Given the description of an element on the screen output the (x, y) to click on. 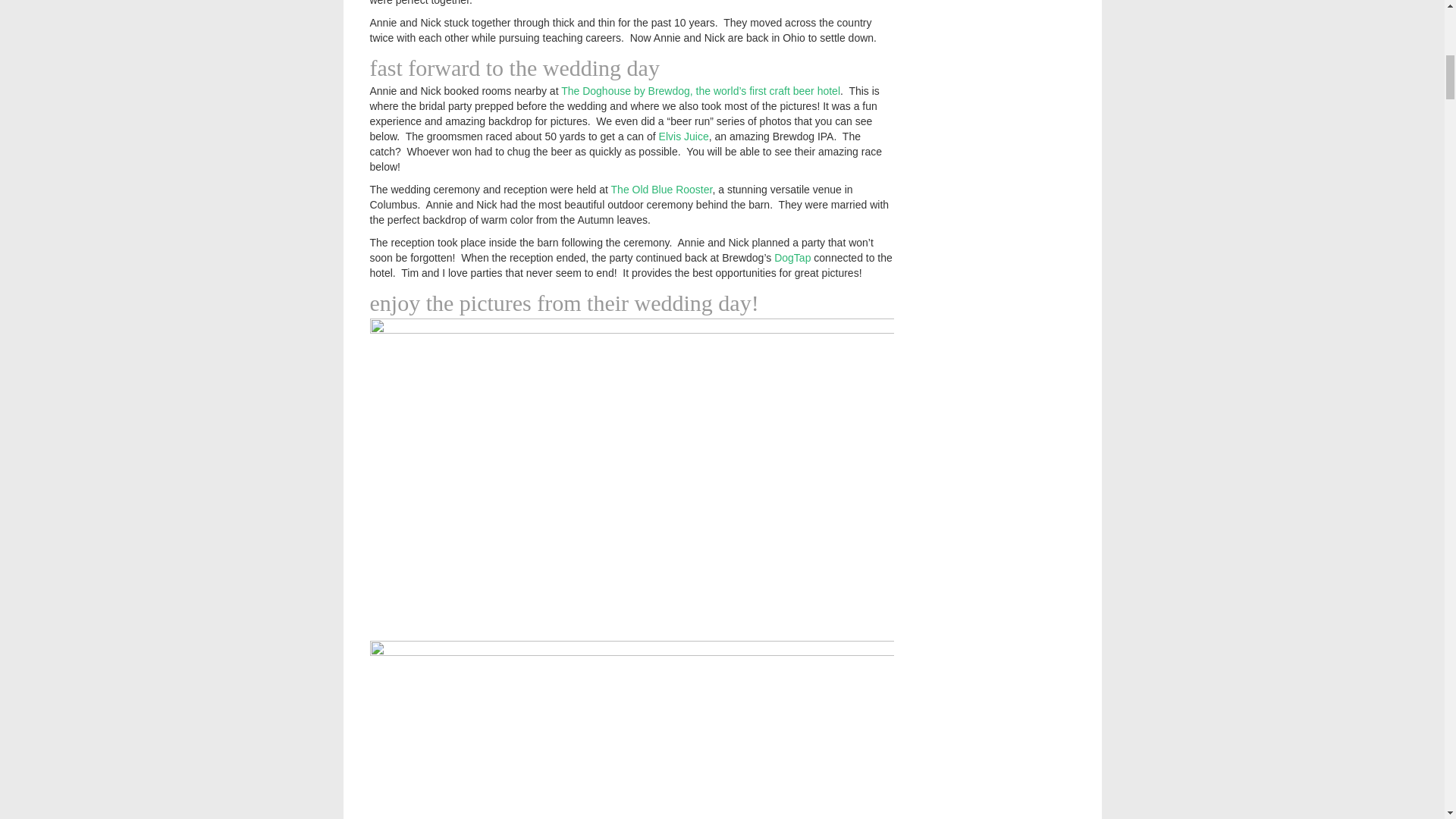
DogTap (792, 257)
Elvis Juice (684, 136)
The Old Blue Rooster (662, 189)
